Given the description of an element on the screen output the (x, y) to click on. 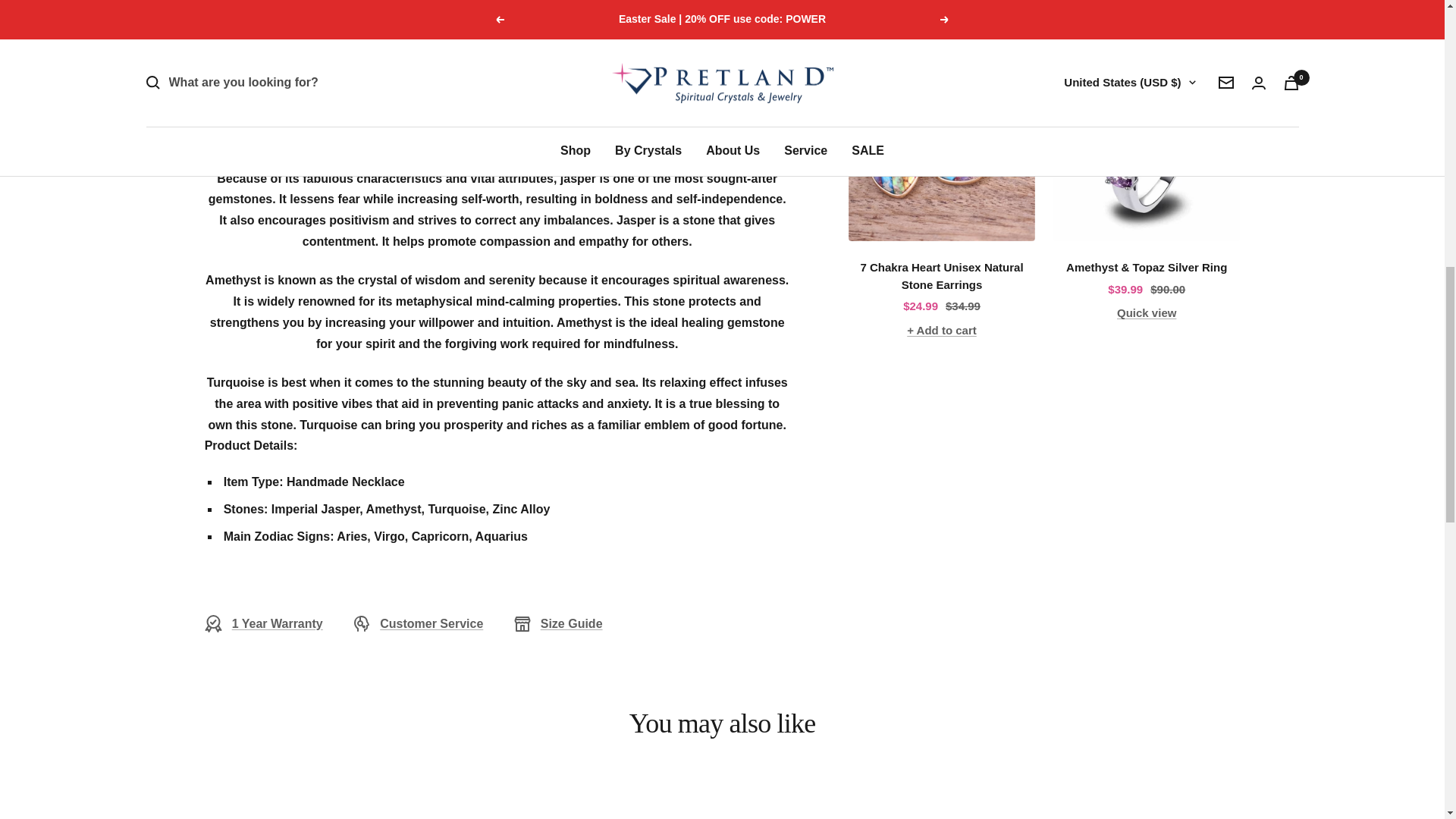
IO (1028, 80)
BR (1028, 54)
VG (1028, 107)
BA (1028, 6)
BN (1028, 133)
BW (1028, 28)
